Given the description of an element on the screen output the (x, y) to click on. 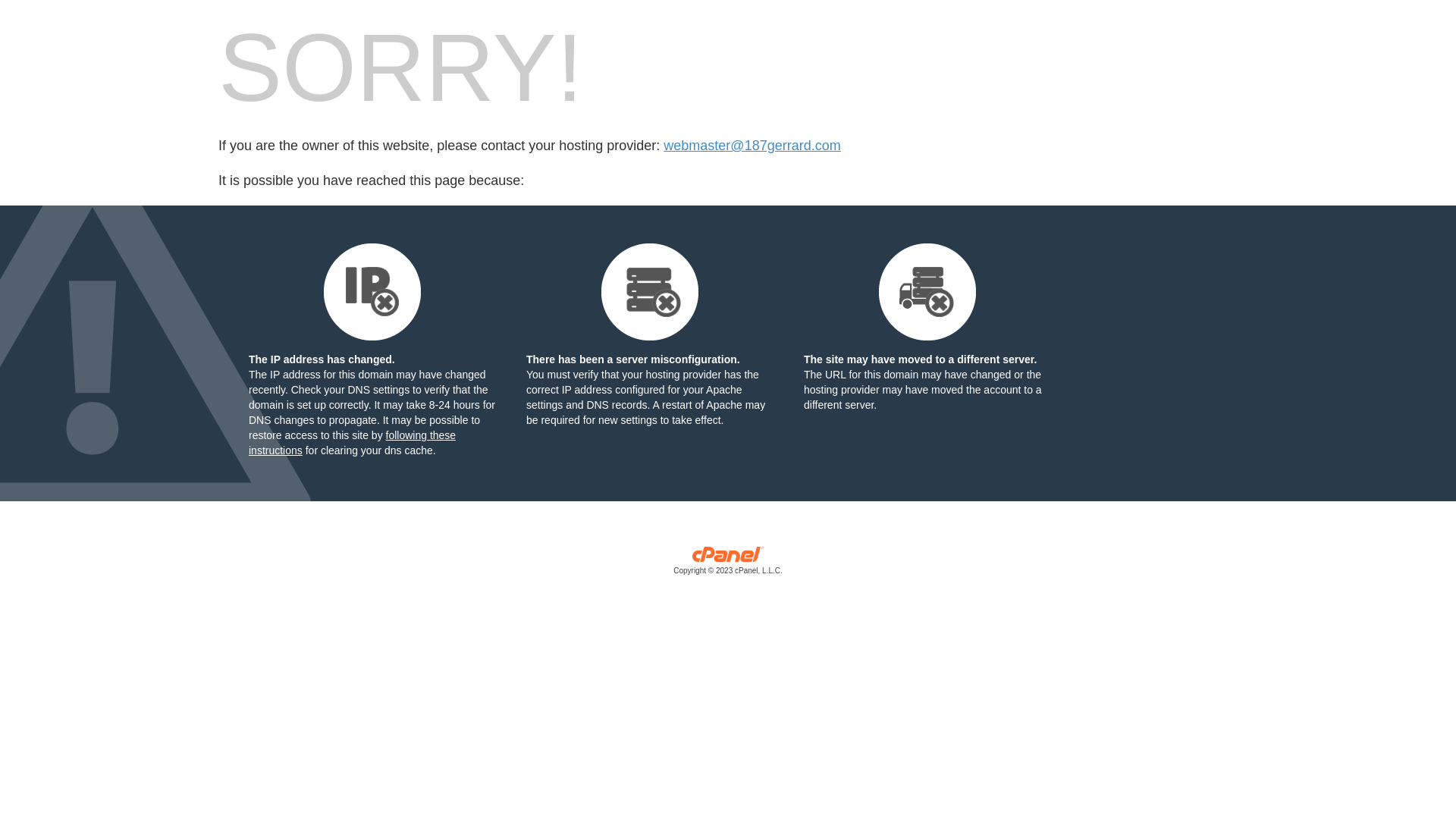
following these instructions Element type: text (351, 442)
webmaster@187gerrard.com Element type: text (751, 145)
